Given the description of an element on the screen output the (x, y) to click on. 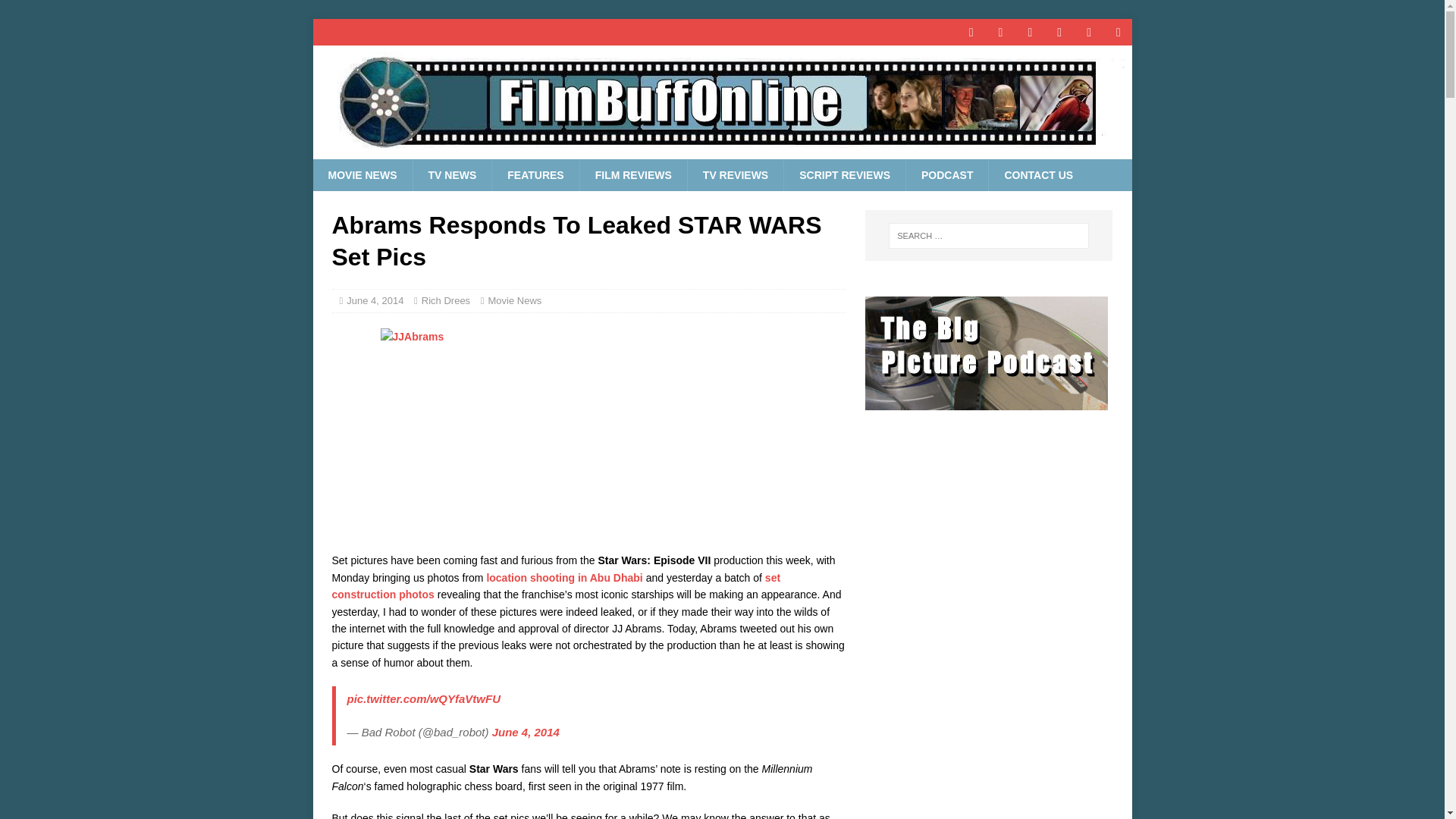
SCRIPT REVIEWS (844, 174)
June 4, 2014 (374, 300)
CONTACT US (1037, 174)
Movie News (514, 300)
MOVIE NEWS (362, 174)
Rich Drees (446, 300)
FILM REVIEWS (633, 174)
location shooting in Abu Dhabi (564, 577)
set construction photos (555, 585)
FilmBuffOnline (722, 150)
